Given the description of an element on the screen output the (x, y) to click on. 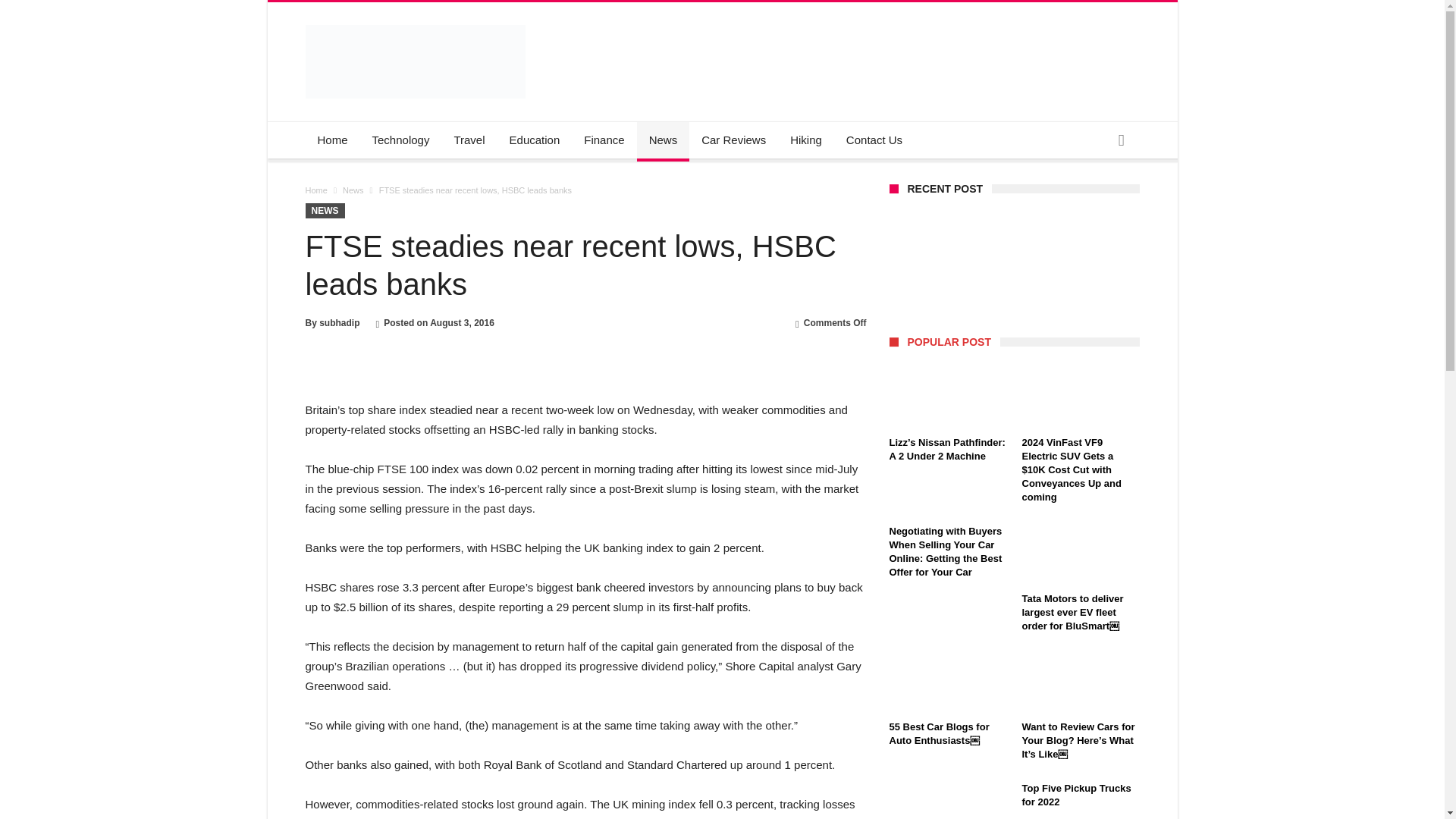
subhadip (338, 322)
Car Reviews (732, 140)
News (663, 140)
News (353, 189)
Finance (604, 140)
Home (315, 189)
NEWS (323, 210)
Hiking (805, 140)
Education (534, 140)
Futurzweb (414, 24)
